Given the description of an element on the screen output the (x, y) to click on. 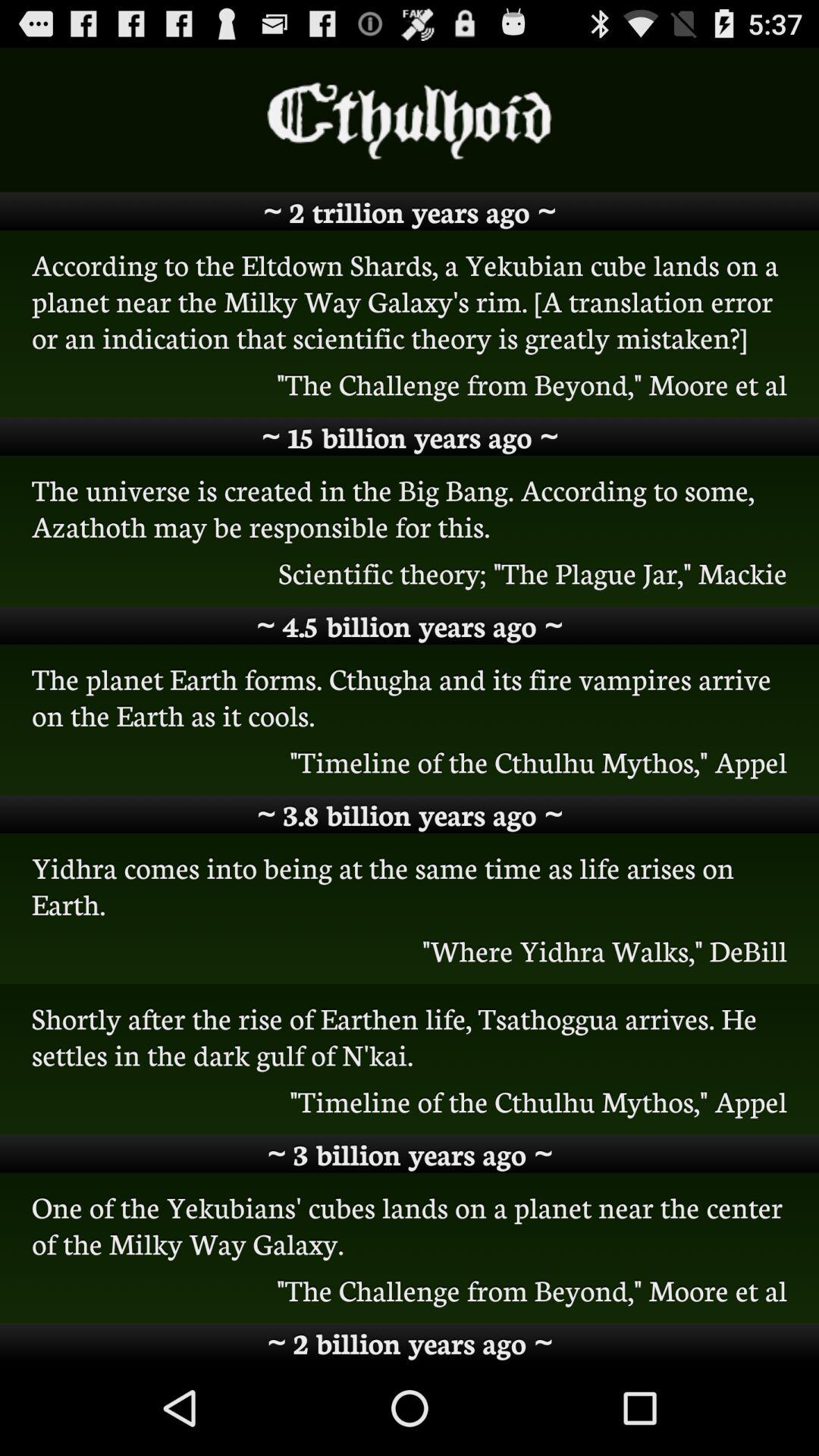
flip until the 4 5 billion (409, 625)
